Given the description of an element on the screen output the (x, y) to click on. 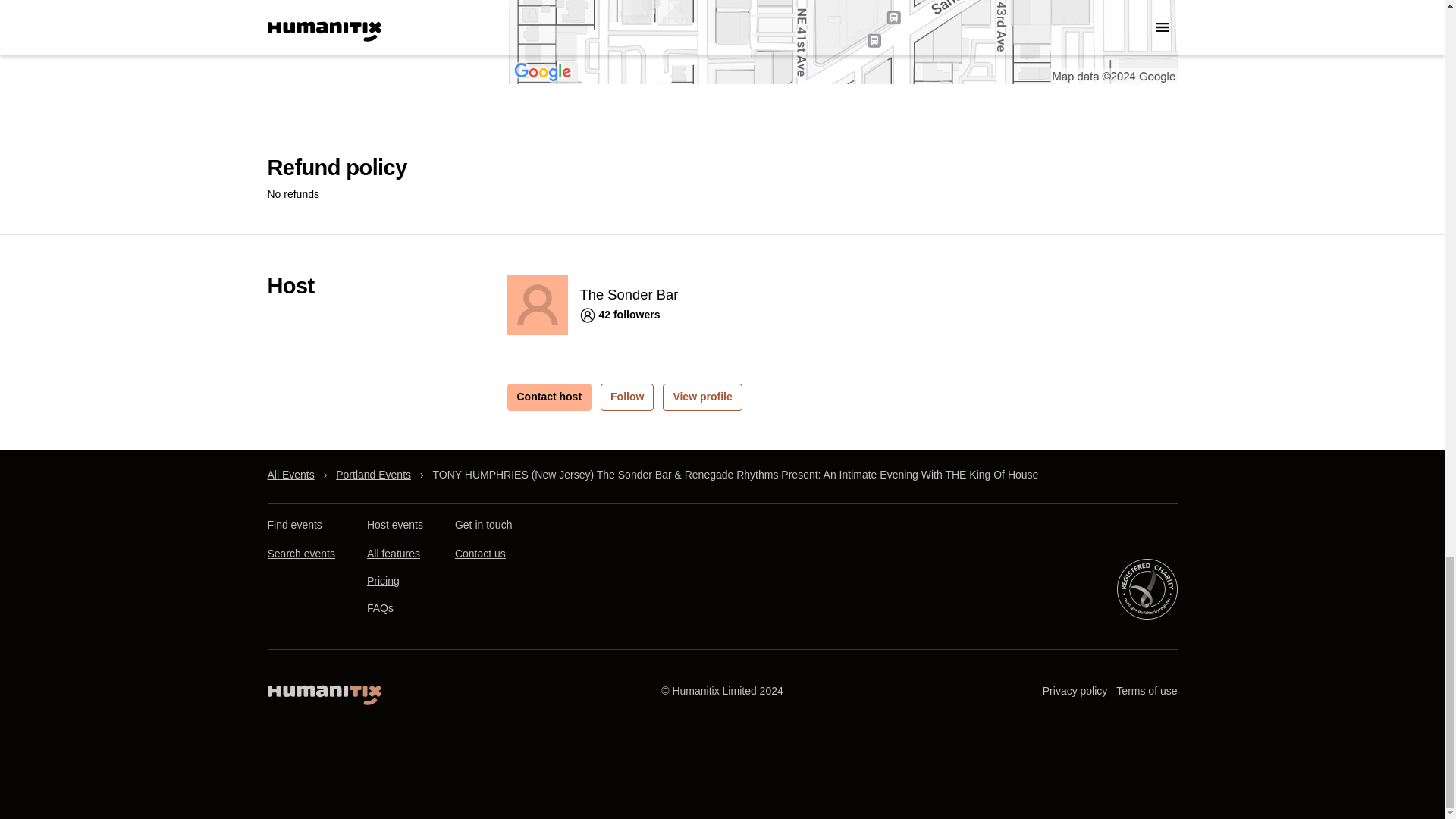
Follow (626, 397)
Search events (300, 553)
All Events (290, 474)
Pricing (382, 580)
Contact host (548, 397)
All features (393, 553)
Portland Events (373, 474)
View profile (701, 397)
